Given the description of an element on the screen output the (x, y) to click on. 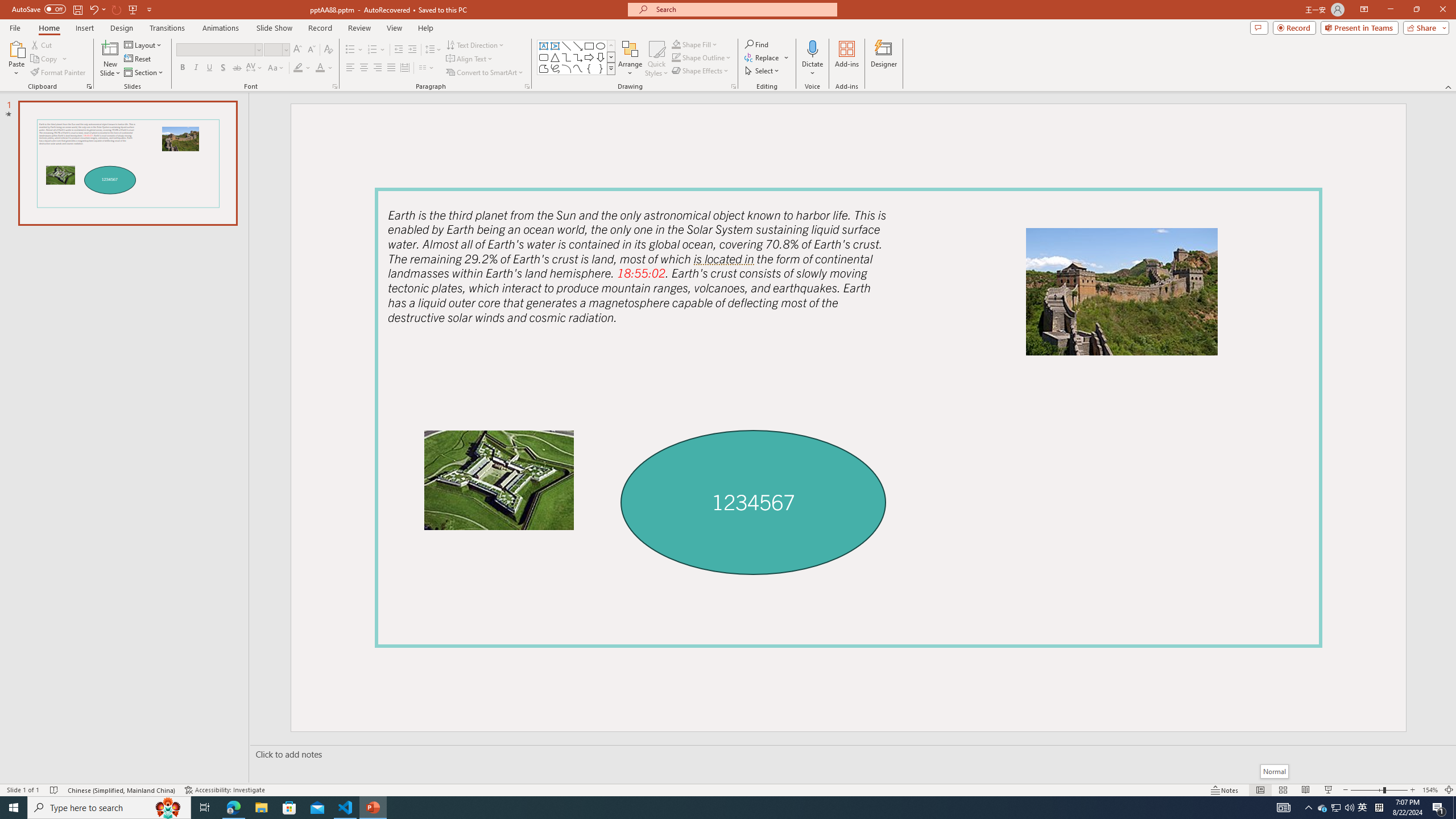
Isosceles Triangle (554, 57)
Freeform: Shape (543, 68)
Format Painter (58, 72)
Line Arrow (577, 45)
Shadow (223, 67)
Shapes (611, 68)
